Given the description of an element on the screen output the (x, y) to click on. 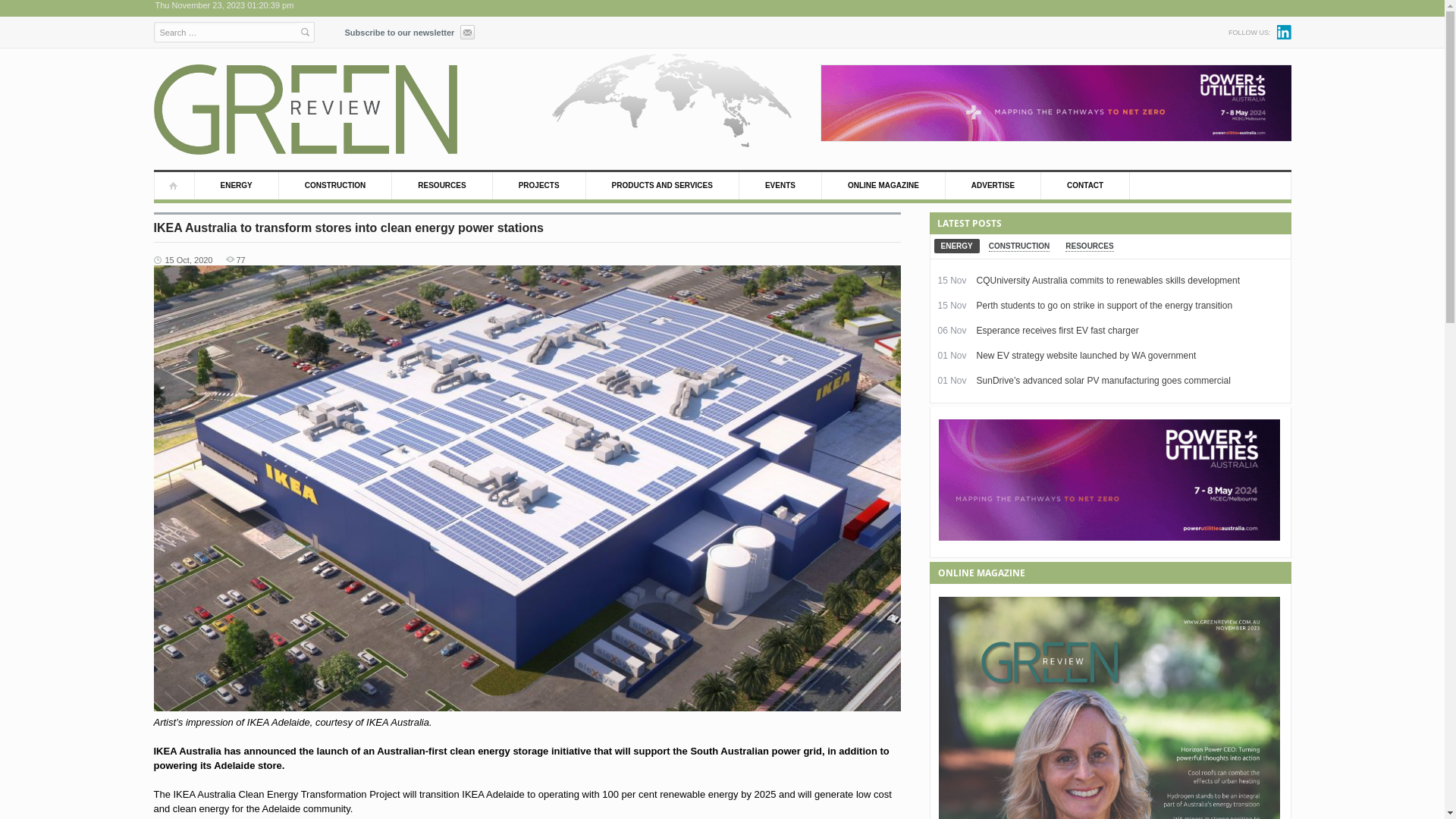
RESOURCES Element type: text (1089, 246)
New EV strategy website launched by WA government Element type: text (1086, 355)
EVENTS Element type: text (780, 185)
ONLINE MAGAZINE Element type: text (883, 185)
ADVERTISE Element type: text (993, 185)
CONTACT Element type: text (1085, 185)
RESOURCES Element type: text (442, 185)
CONSTRUCTION Element type: text (335, 185)
CONSTRUCTION Element type: text (1019, 246)
LinkedIn Element type: hover (1284, 32)
Subscribe to our newsletter Element type: text (409, 30)
ENERGY Element type: text (956, 245)
PROJECTS Element type: text (539, 185)
Esperance receives first EV fast charger Element type: text (1057, 330)
ENERGY Element type: text (236, 185)
Petroleum Australia Element type: hover (304, 109)
PRODUCTS AND SERVICES Element type: text (662, 185)
